Given the description of an element on the screen output the (x, y) to click on. 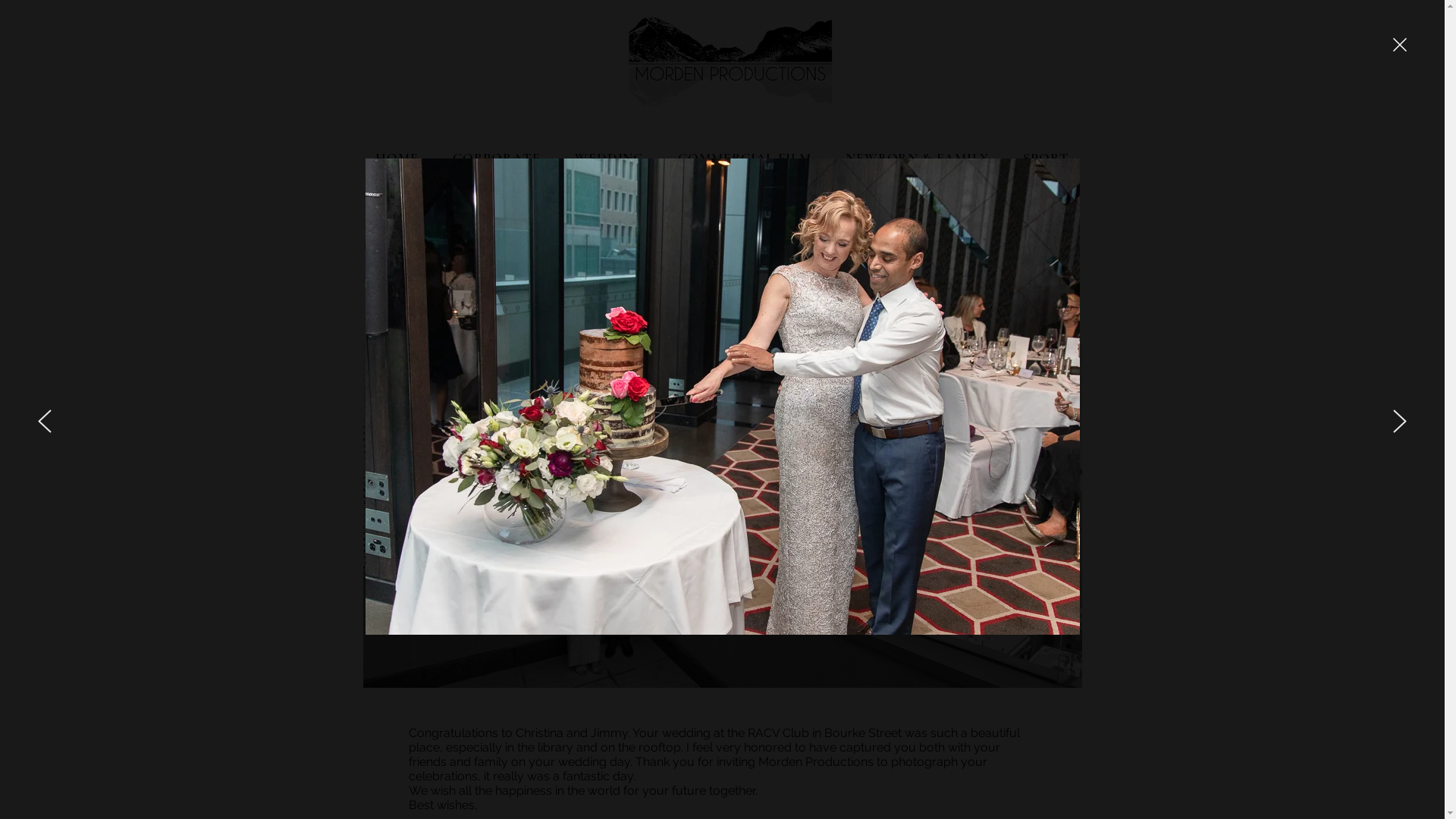
WEDDING Element type: text (608, 157)
CONTACT Element type: text (721, 196)
CORPORATE Element type: text (496, 157)
NEWBORN & FAMILY Element type: text (917, 157)
SPORT Element type: text (1046, 157)
HOME Element type: text (396, 157)
COMMERCIAL FILM Element type: text (744, 157)
